Given the description of an element on the screen output the (x, y) to click on. 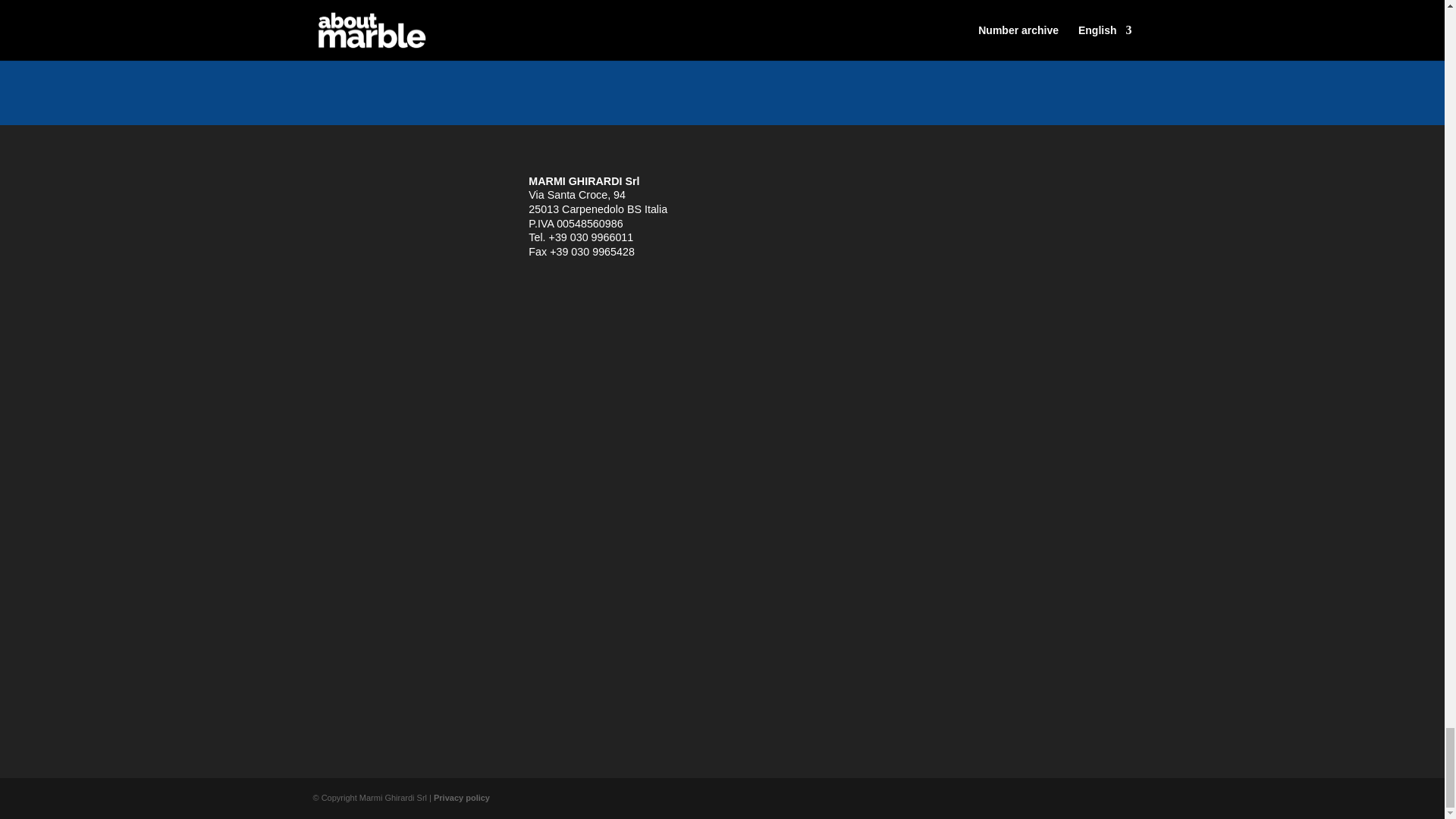
1 (749, 13)
I declare that I have read the Privacy Policy (870, 14)
Subscribe (779, 39)
Subscribe (779, 39)
Privacy policy (461, 797)
